Given the description of an element on the screen output the (x, y) to click on. 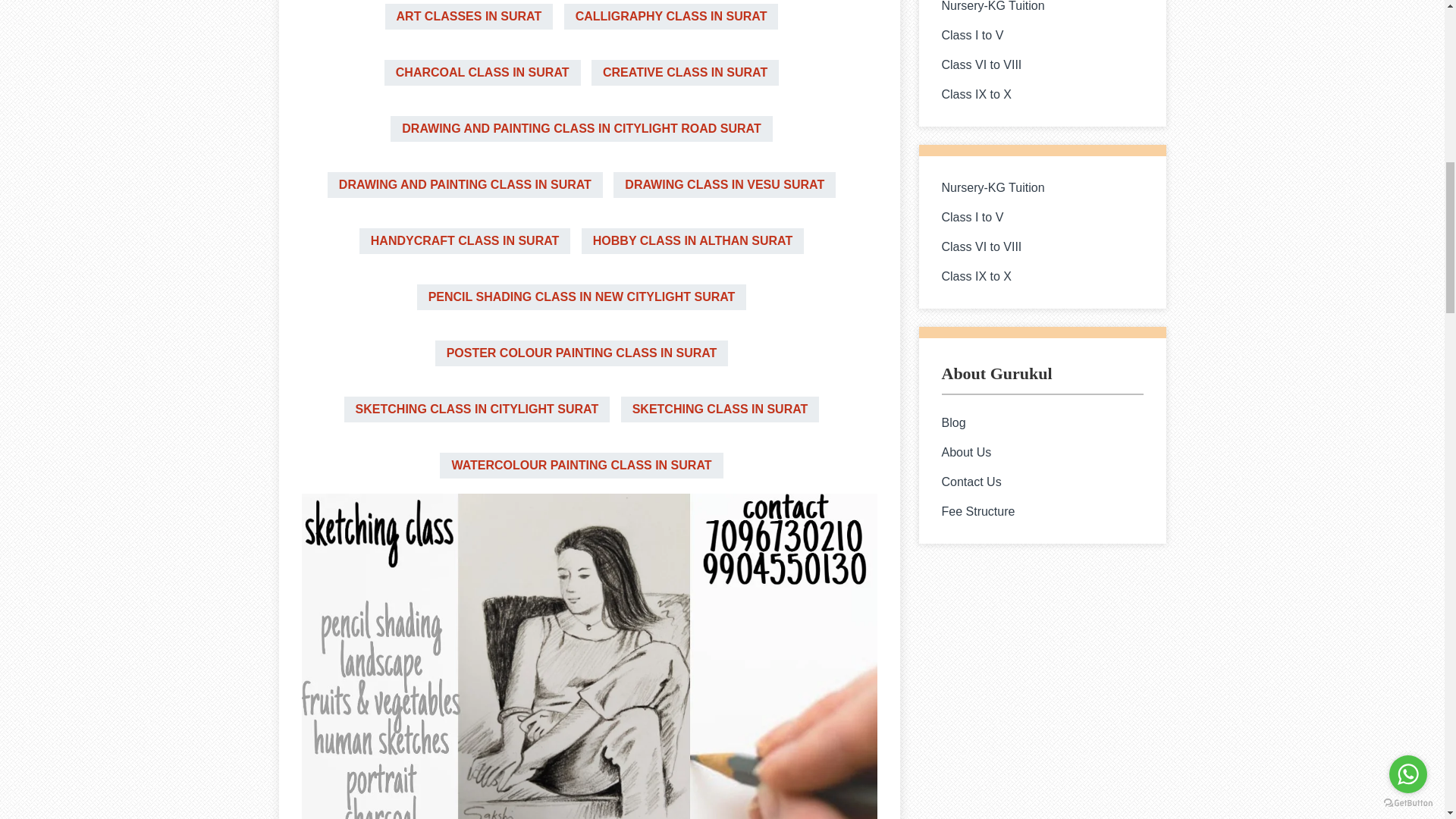
CREATIVE CLASS IN SURAT (684, 72)
PENCIL SHADING CLASS IN NEW CITYLIGHT SURAT (581, 297)
DRAWING AND PAINTING CLASS IN CITYLIGHT ROAD SURAT (580, 128)
SKETCHING CLASS IN CITYLIGHT SURAT (476, 409)
CALLIGRAPHY CLASS IN SURAT (671, 16)
ART CLASSES IN SURAT (469, 16)
HOBBY CLASS IN ALTHAN SURAT (691, 240)
DRAWING CLASS IN VESU SURAT (723, 184)
WATERCOLOUR PAINTING CLASS IN SURAT (580, 465)
CHARCOAL CLASS IN SURAT (482, 72)
POSTER COLOUR PAINTING CLASS IN SURAT (582, 353)
HANDYCRAFT CLASS IN SURAT (464, 240)
SKETCHING CLASS IN SURAT (720, 409)
DRAWING AND PAINTING CLASS IN SURAT (464, 184)
